Given the description of an element on the screen output the (x, y) to click on. 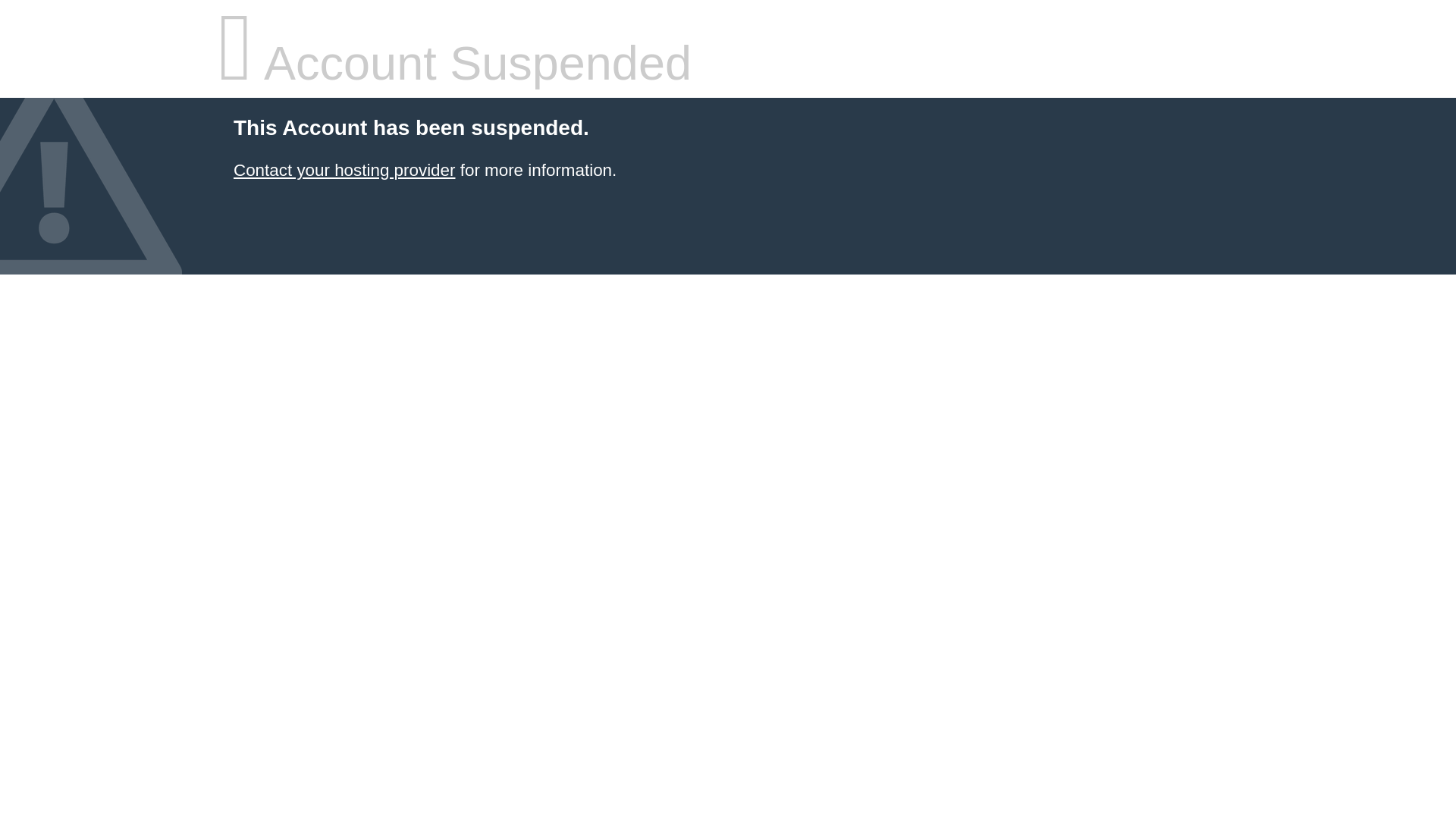
Contact your hosting provider (343, 169)
